Given the description of an element on the screen output the (x, y) to click on. 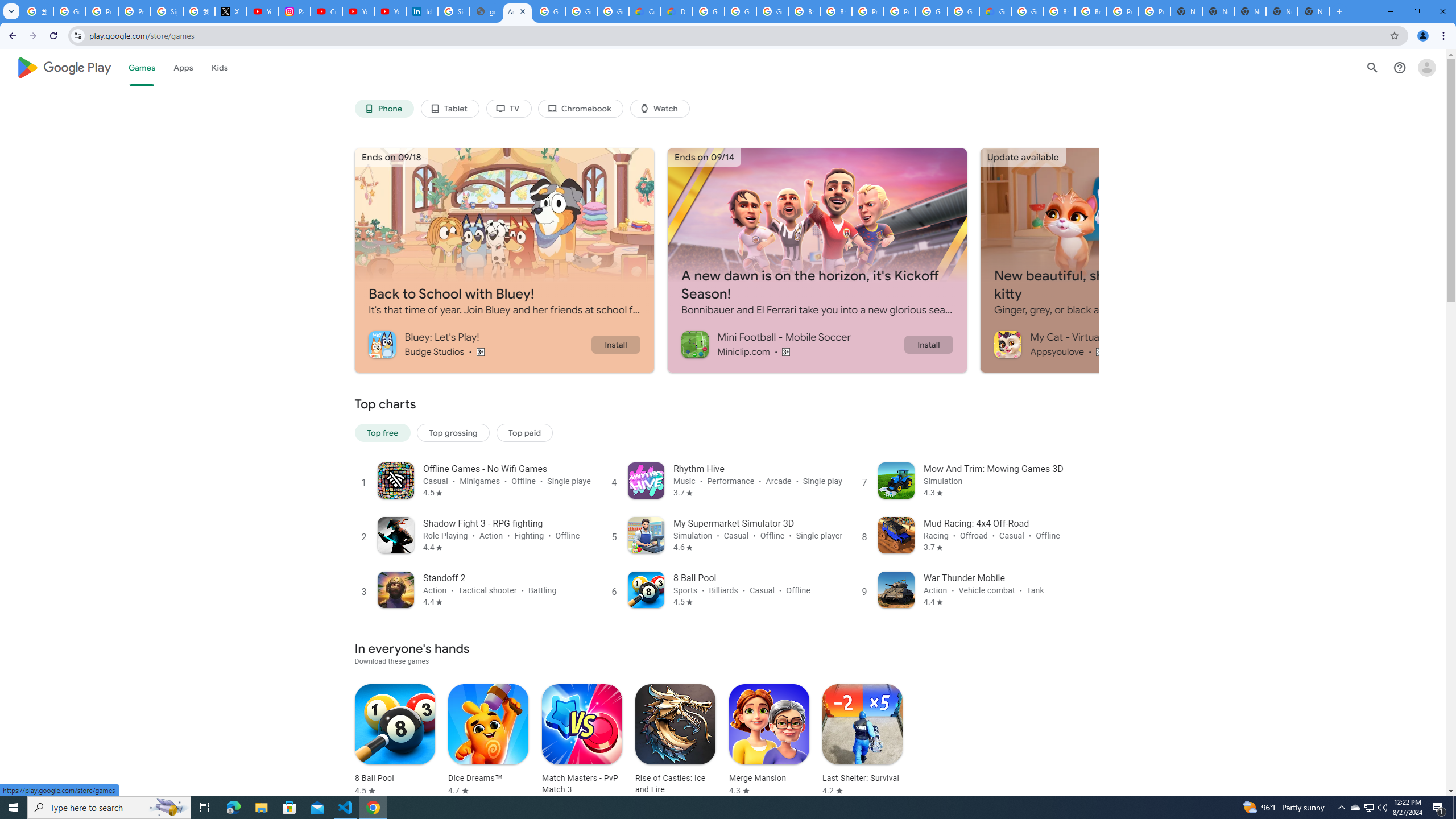
Bluey: Let's Play! Budge Studios Content rating Rated for 3+ (479, 344)
Customer Care | Google Cloud (644, 11)
Install (928, 343)
Google Cloud Platform (963, 11)
Google Cloud Estimate Summary (995, 11)
YouTube Content Monetization Policies - How YouTube Works (262, 11)
TV (508, 108)
Phone (383, 108)
